Given the description of an element on the screen output the (x, y) to click on. 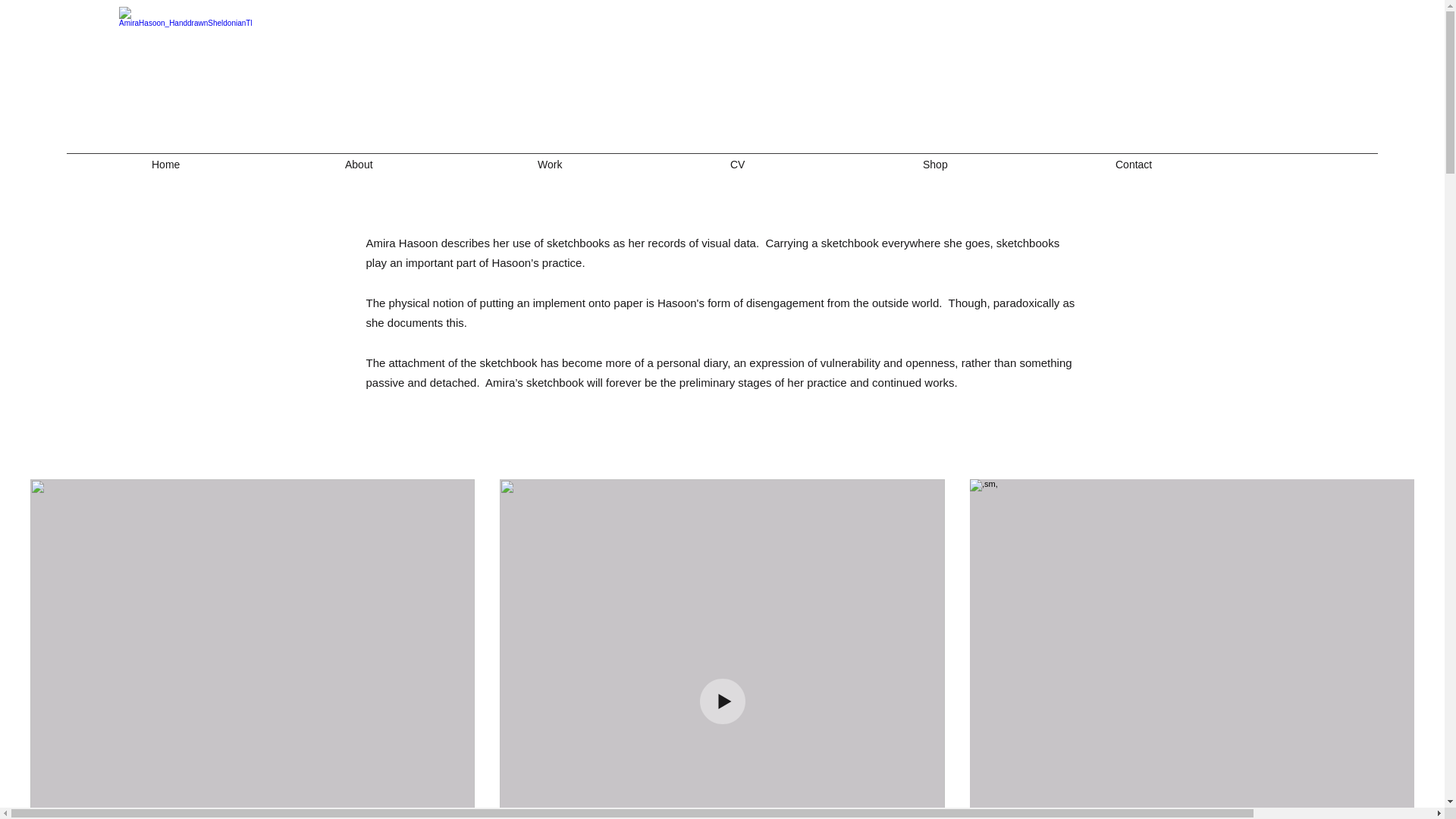
Sheldonian Theatre, Oxford  (185, 70)
Contact (1204, 164)
About (433, 164)
CV (818, 164)
Home (240, 164)
Work (625, 164)
Shop (1011, 164)
